Given the description of an element on the screen output the (x, y) to click on. 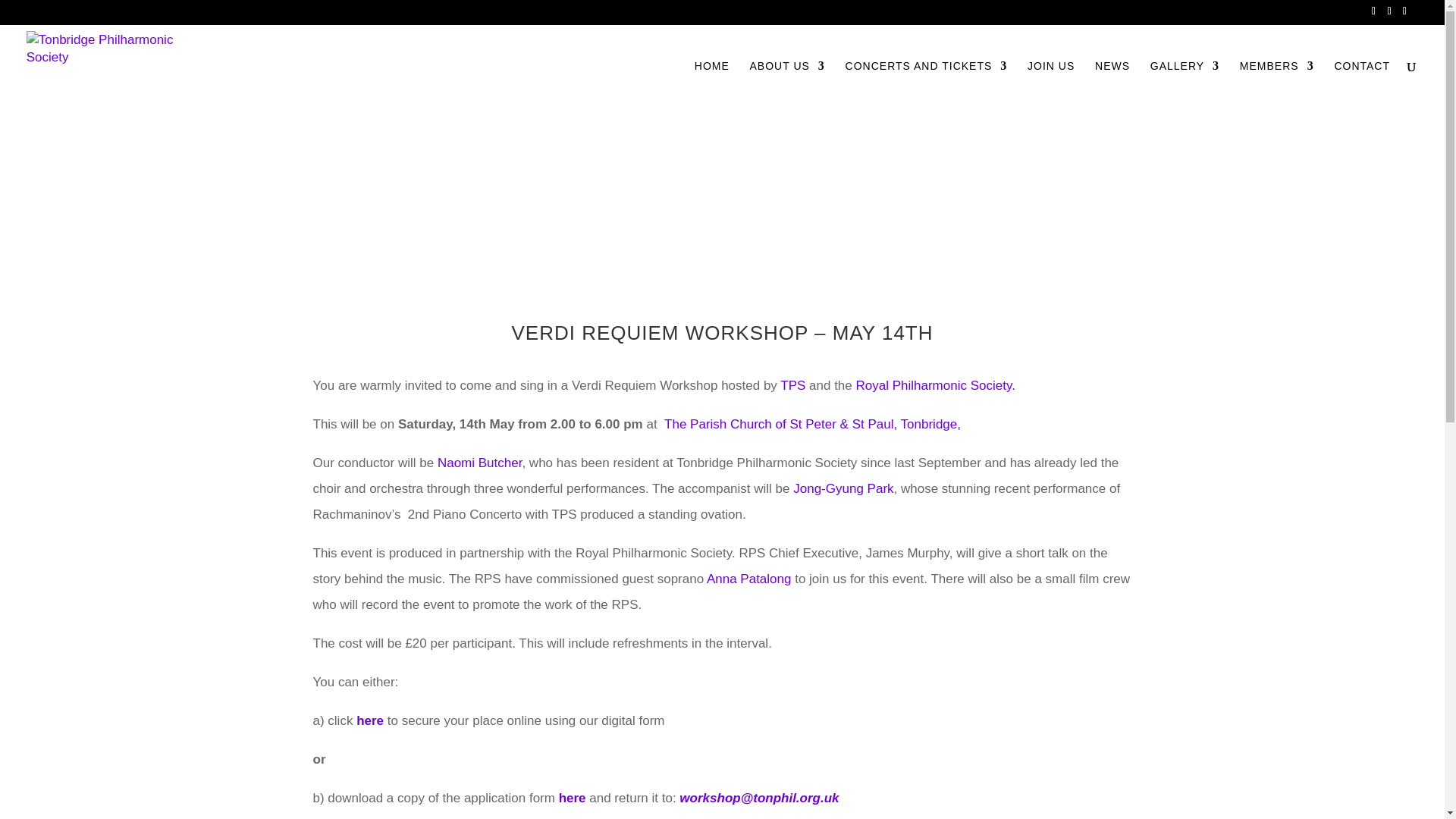
CONCERTS AND TICKETS (926, 84)
Anna Patalong (749, 578)
ABOUT US (787, 84)
here (370, 720)
here (574, 798)
MEMBERS (1277, 84)
JOIN US (1050, 84)
Royal Philharmonic Society. (935, 385)
CONTACT (1361, 84)
Jong-Gyung Park (843, 488)
